Given the description of an element on the screen output the (x, y) to click on. 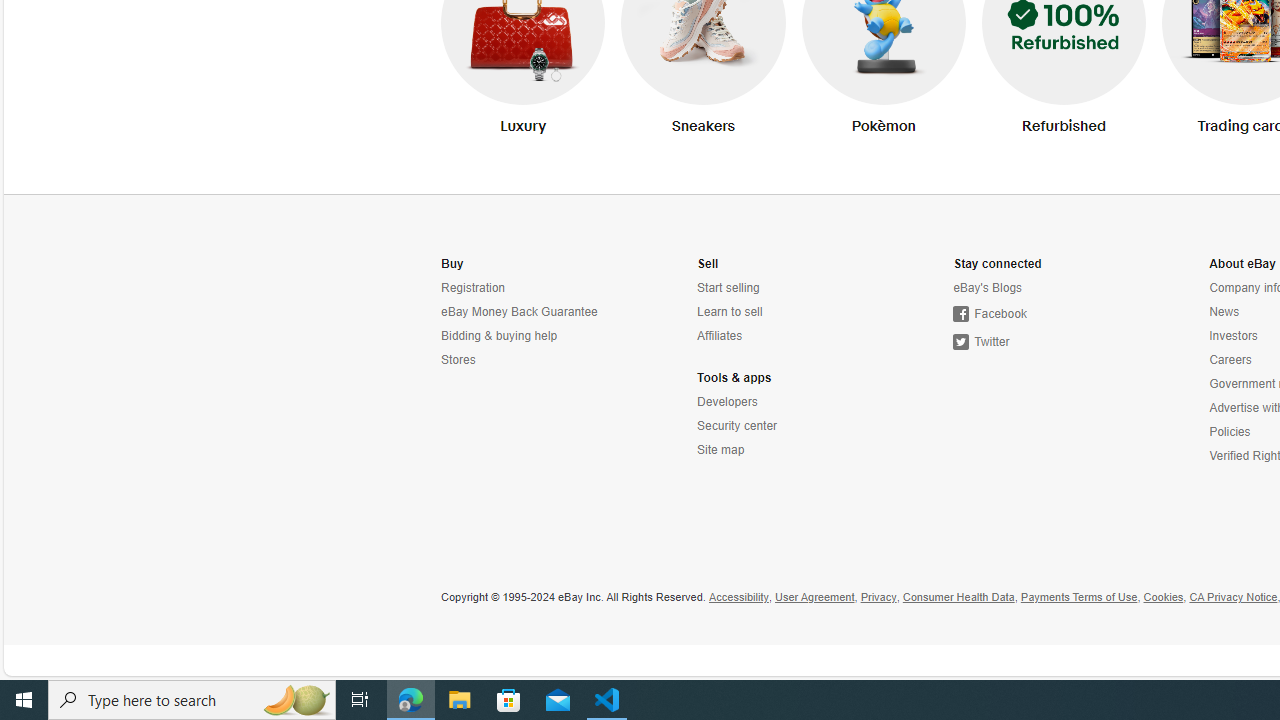
Learn to sell (786, 312)
Security center (737, 425)
Stores (458, 360)
Policies (1229, 432)
Bidding & buying help (499, 335)
Developers (786, 402)
Consumer Health Data (958, 597)
Start selling (786, 288)
Twitter (981, 342)
Careers (1230, 360)
eBay's Blogs (1042, 288)
User Agreement (814, 597)
About eBay (1242, 263)
eBay Money Back Guarantee (519, 312)
Cookies (1163, 597)
